Given the description of an element on the screen output the (x, y) to click on. 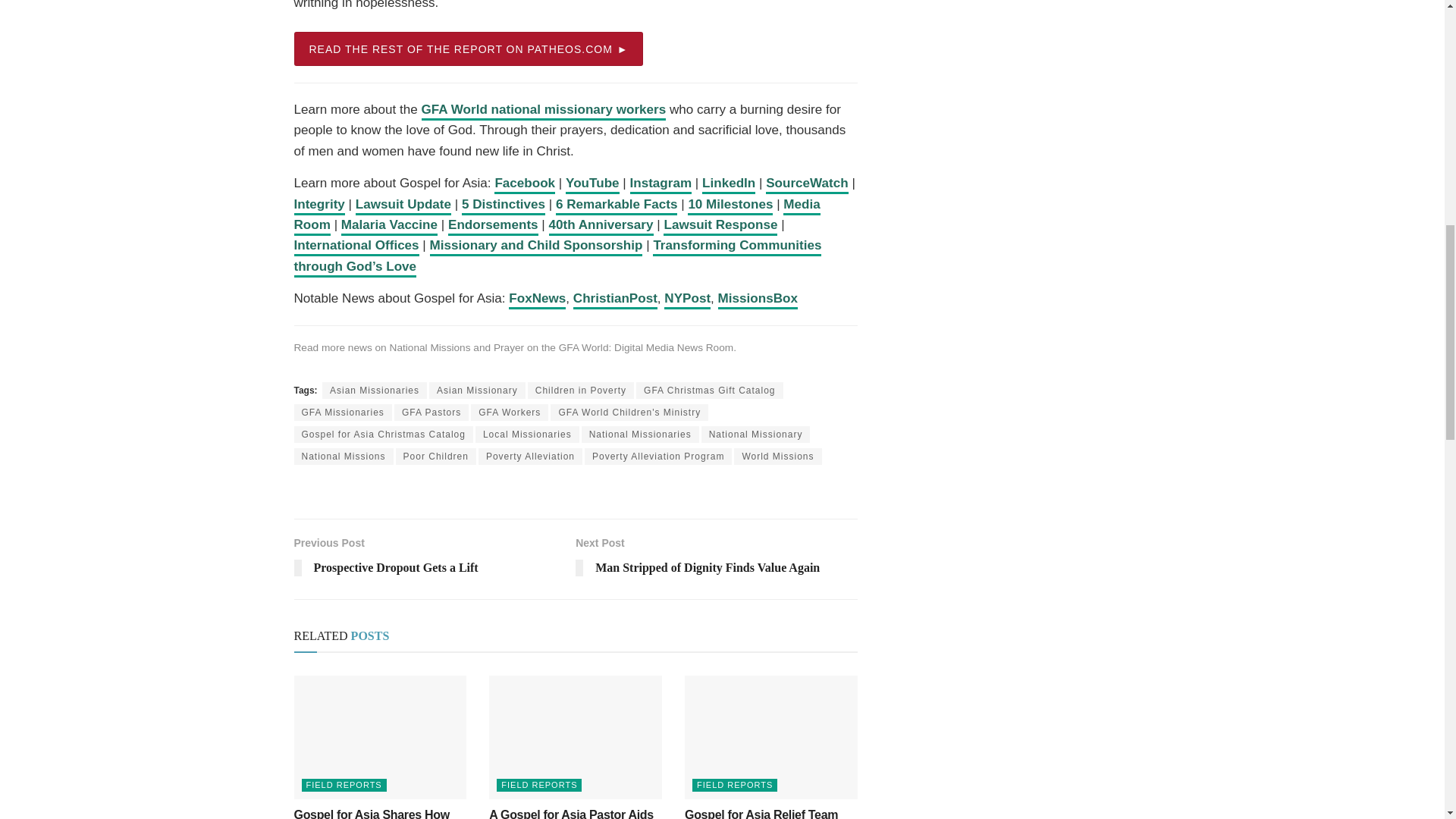
GFA World: Digital Media News Room (646, 347)
National Missions (430, 347)
Prayer (508, 347)
